Given the description of an element on the screen output the (x, y) to click on. 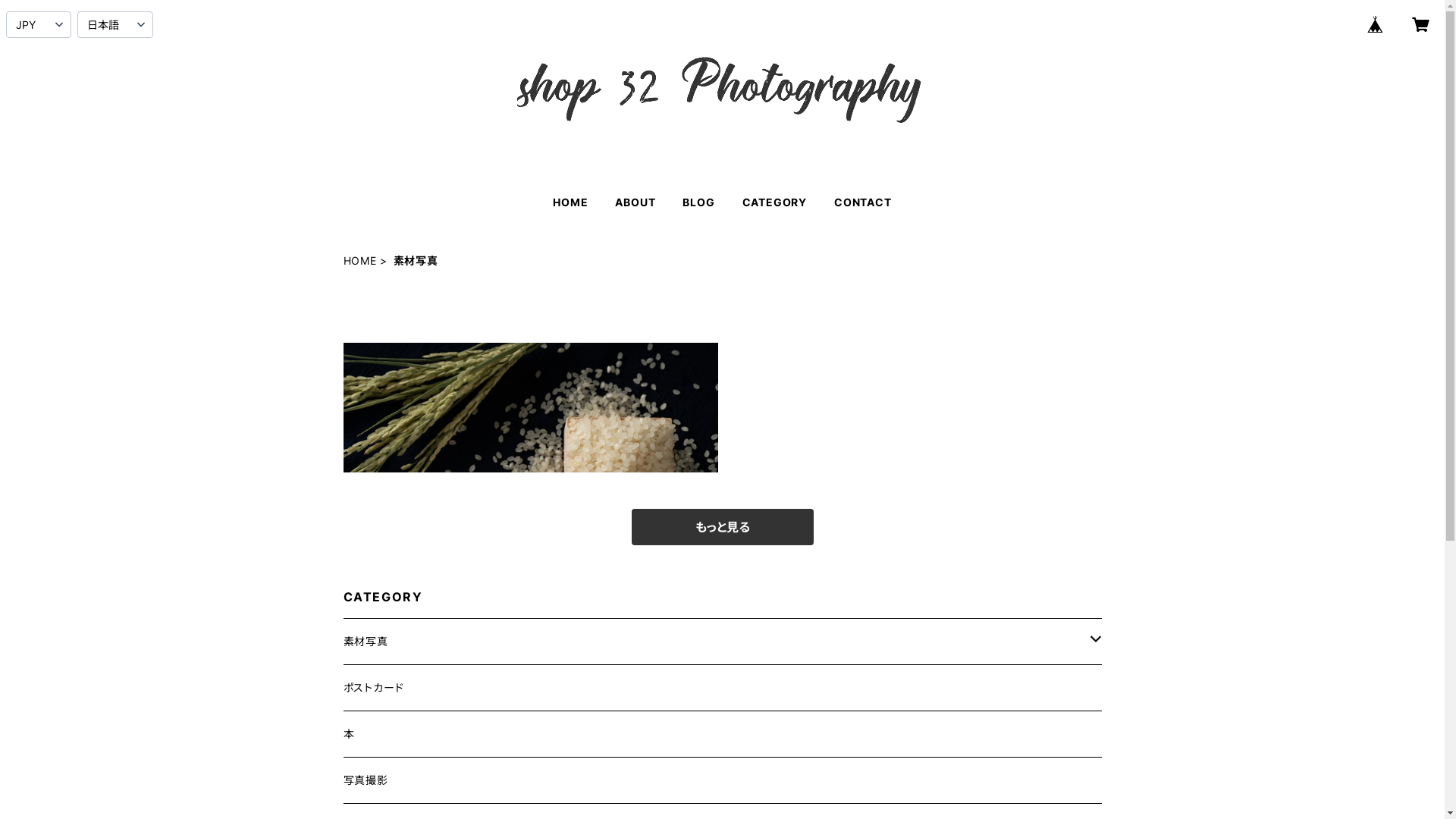
CONTACT Element type: text (862, 201)
HOME Element type: text (569, 201)
BLOG Element type: text (698, 201)
ABOUT Element type: text (635, 201)
HOME Element type: text (359, 260)
